Given the description of an element on the screen output the (x, y) to click on. 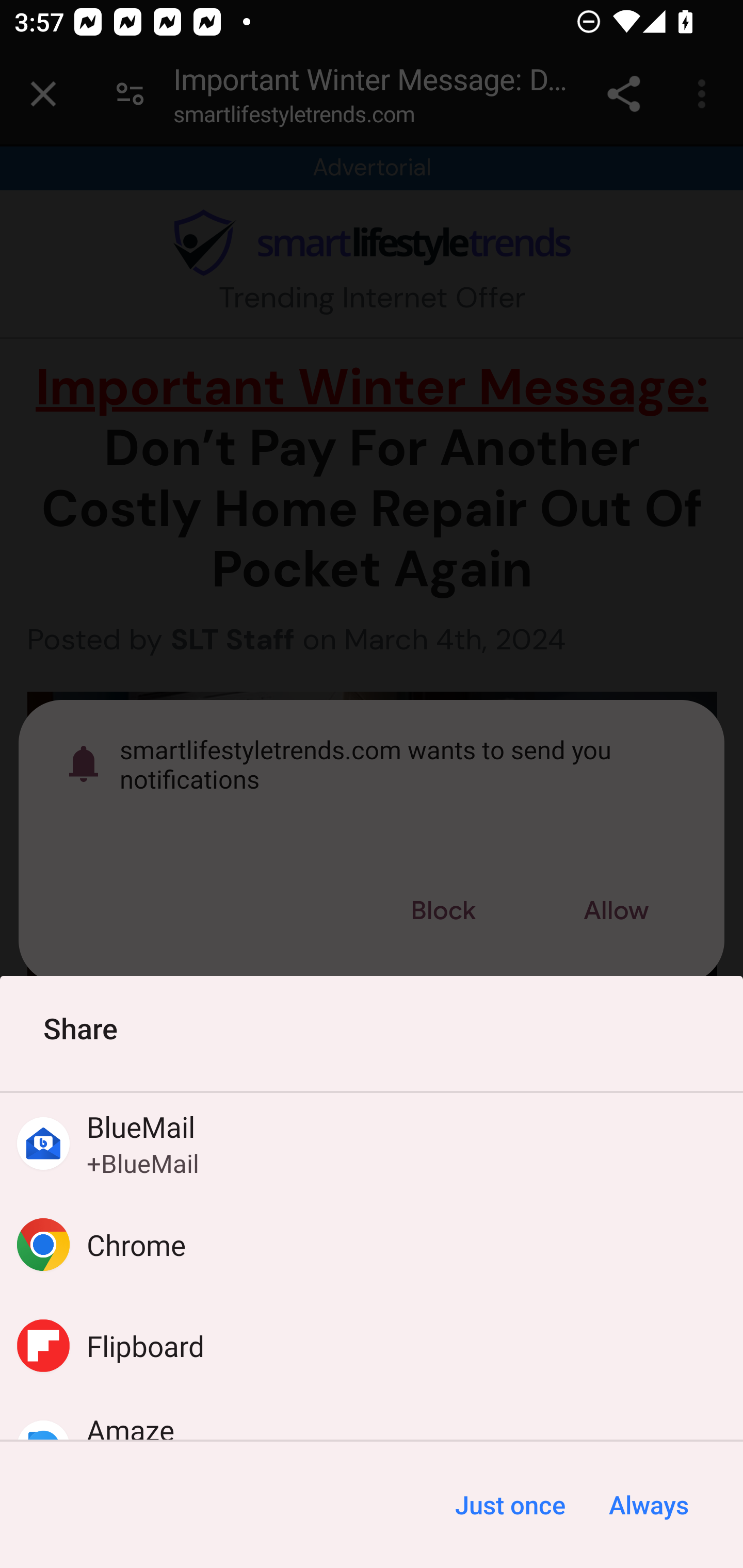
BlueMail +BlueMail (371, 1143)
Chrome (371, 1244)
Flipboard (371, 1345)
Just once (509, 1504)
Always (648, 1504)
